Given the description of an element on the screen output the (x, y) to click on. 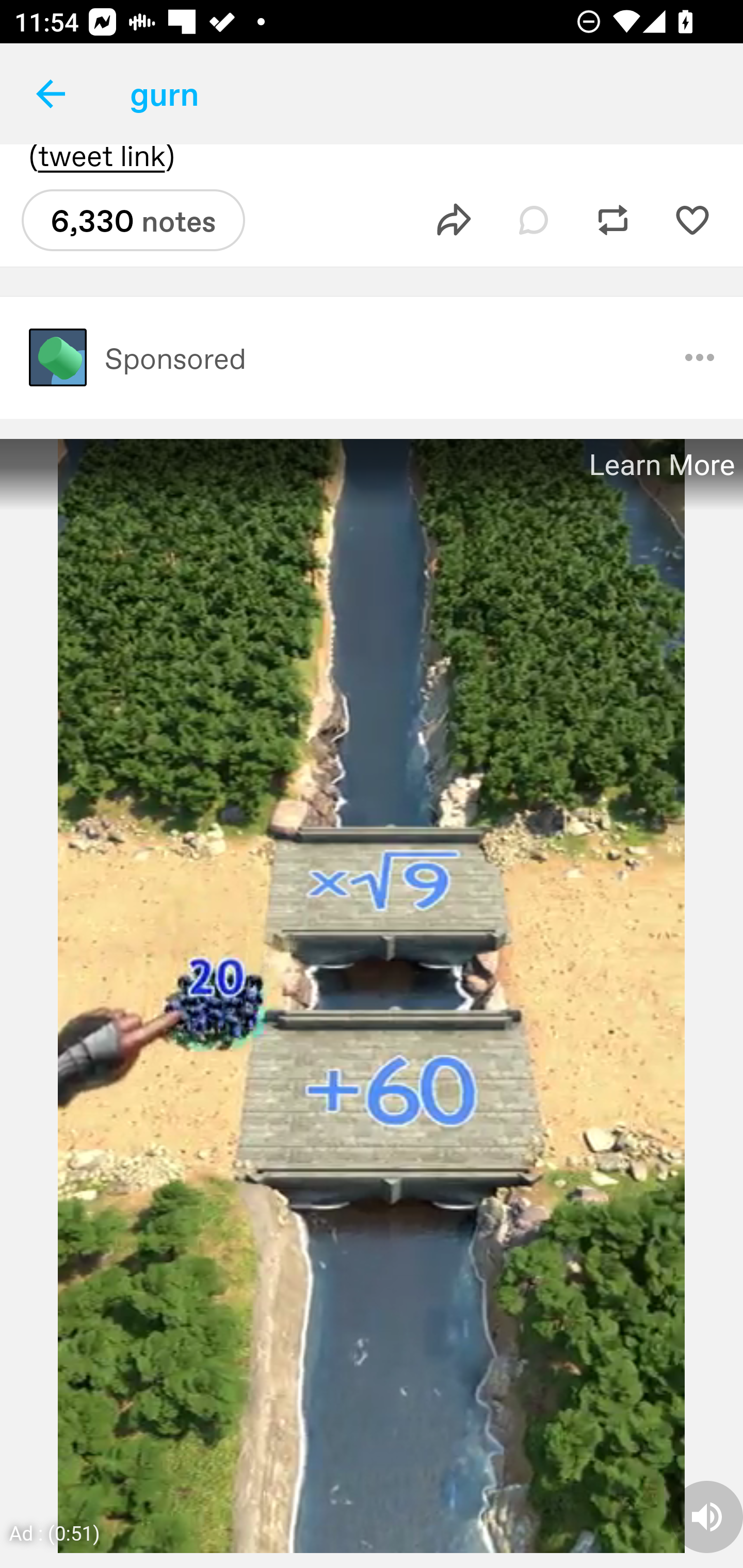
Navigate up (50, 93)
Share post to message (454, 220)
Reblog (612, 220)
Like (691, 220)
6,330 notes (133, 219)
Why do I see this ad? (699, 357)
Learn More (660, 464)
Mute (706, 1516)
Ad : (0:51) (54, 1532)
